Given the description of an element on the screen output the (x, y) to click on. 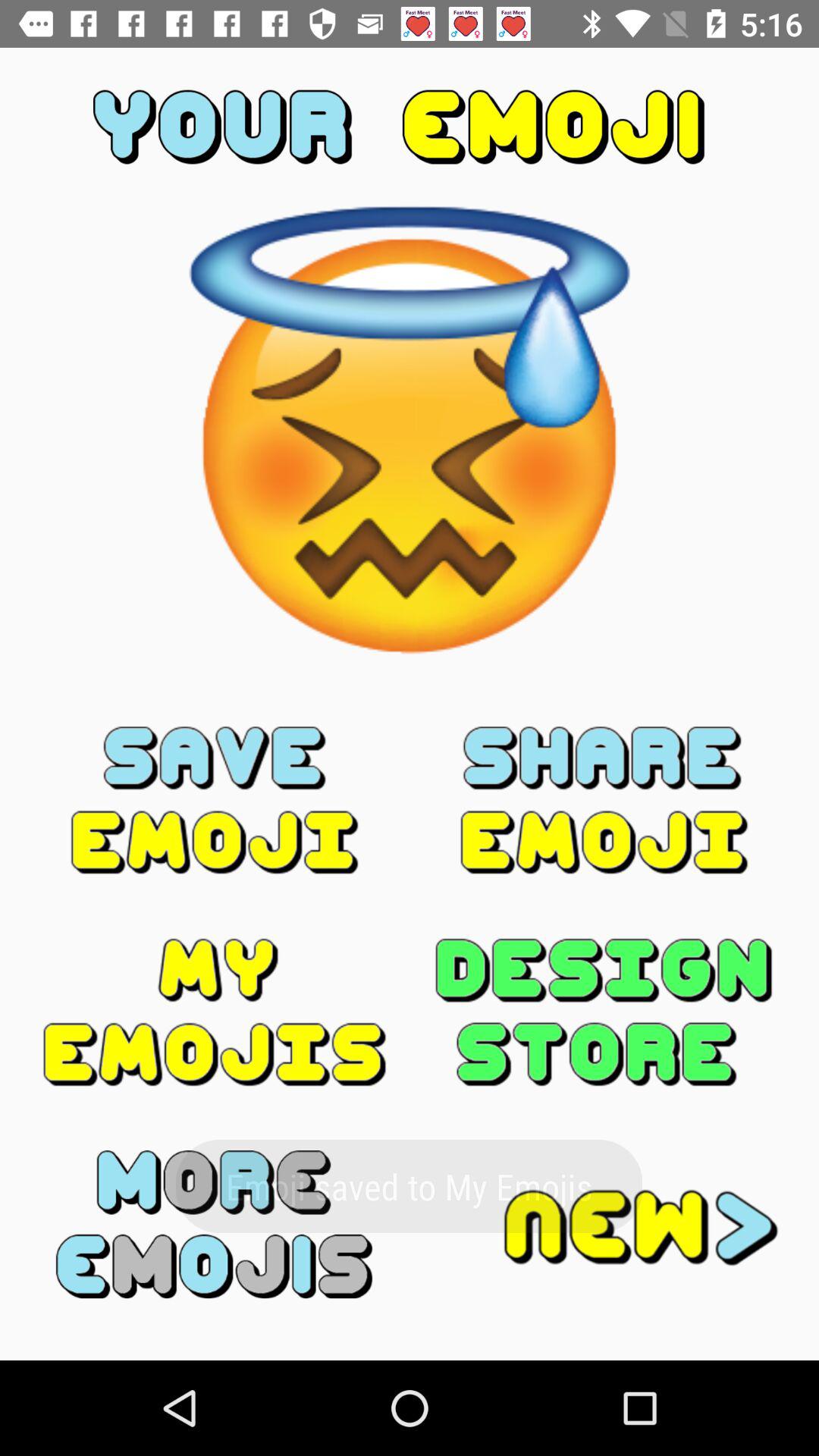
select design store (604, 1012)
